Given the description of an element on the screen output the (x, y) to click on. 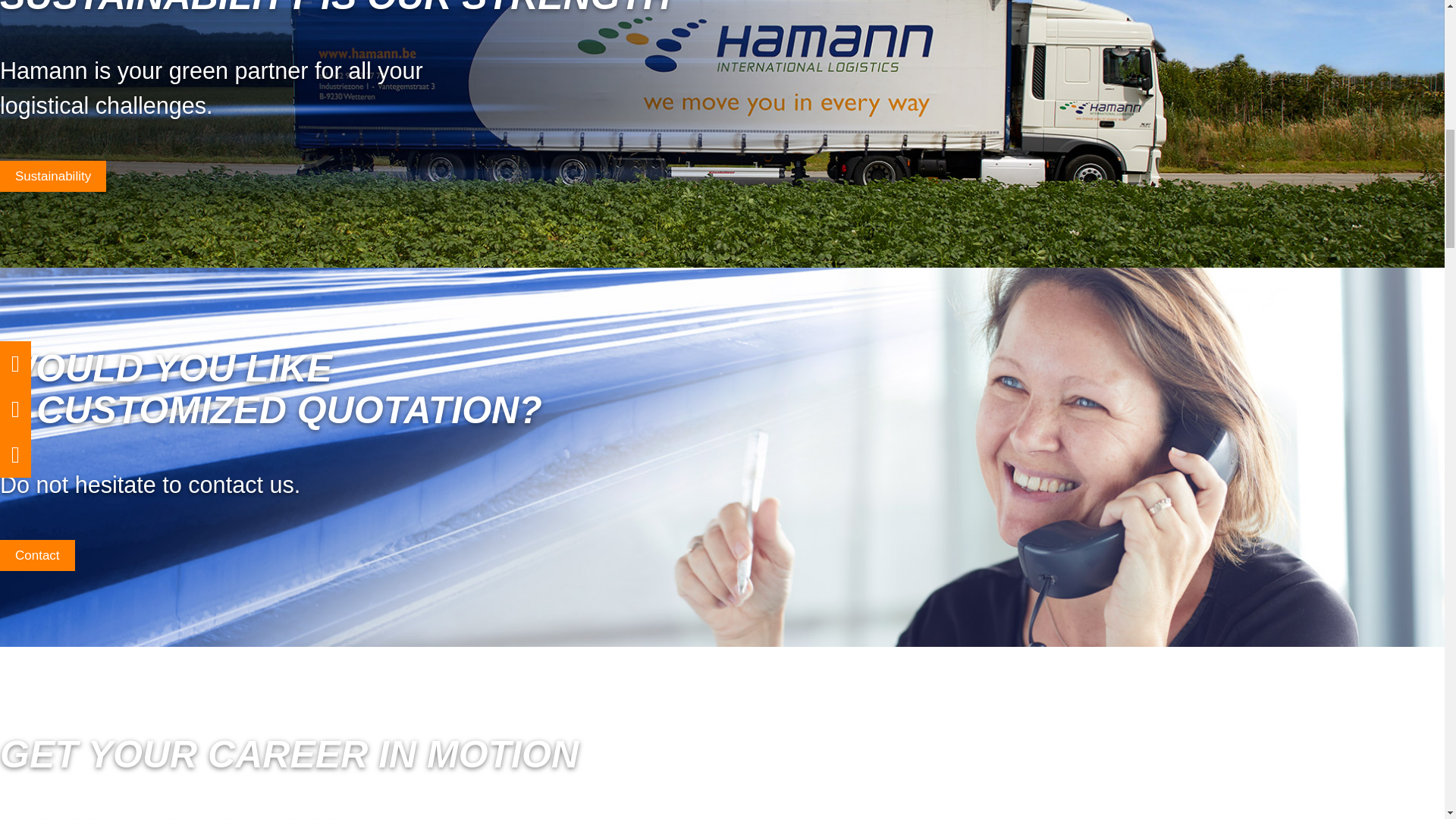
Sustainability (53, 176)
Contact (37, 555)
